Given the description of an element on the screen output the (x, y) to click on. 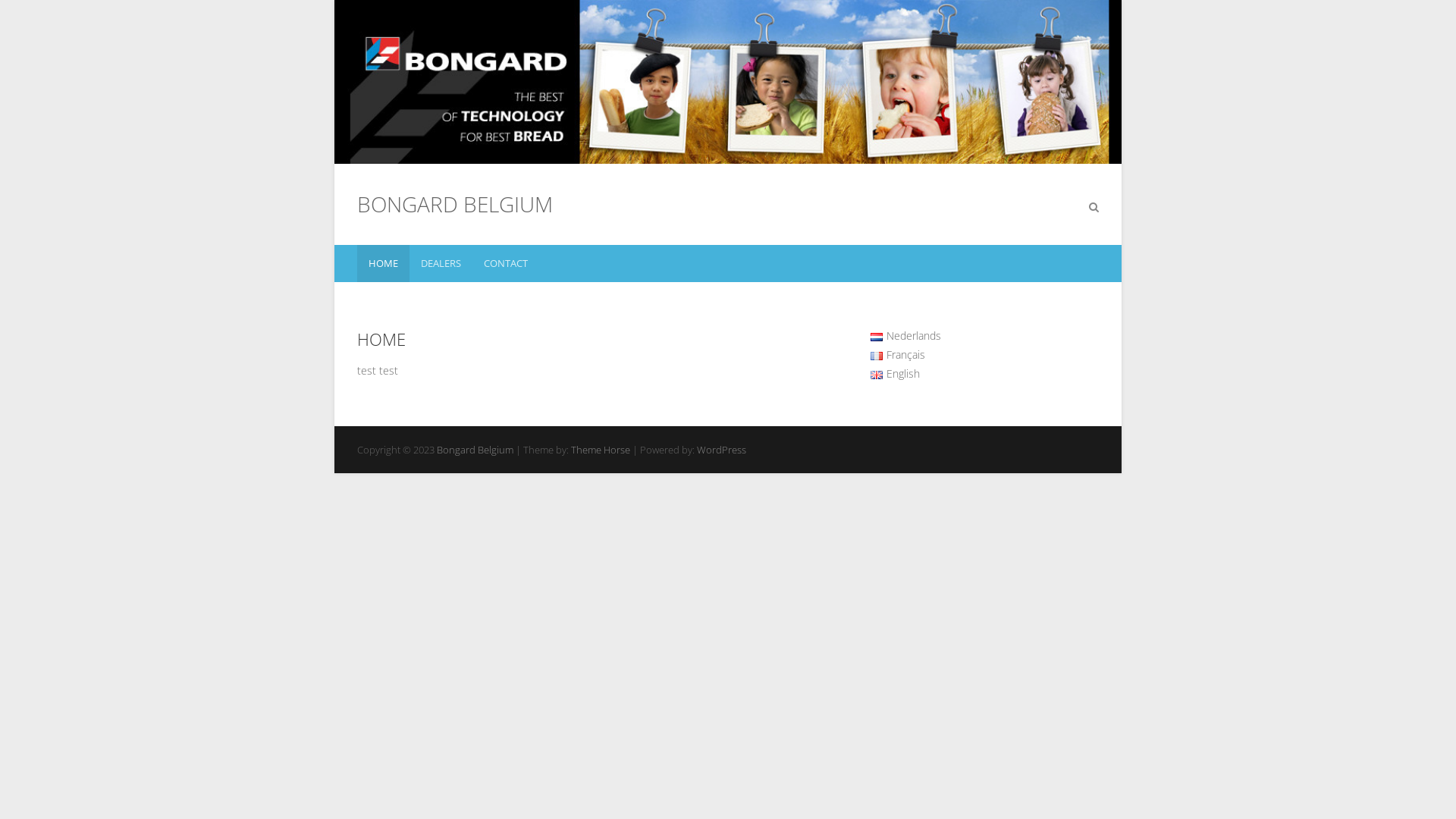
Nederlands Element type: text (905, 335)
Theme Horse Element type: text (600, 449)
HOME Element type: text (383, 263)
Bongard Belgium Element type: text (474, 449)
DEALERS Element type: text (440, 263)
WordPress Element type: text (721, 449)
BONGARD BELGIUM Element type: text (454, 203)
English Element type: text (894, 373)
CONTACT Element type: text (505, 263)
